Given the description of an element on the screen output the (x, y) to click on. 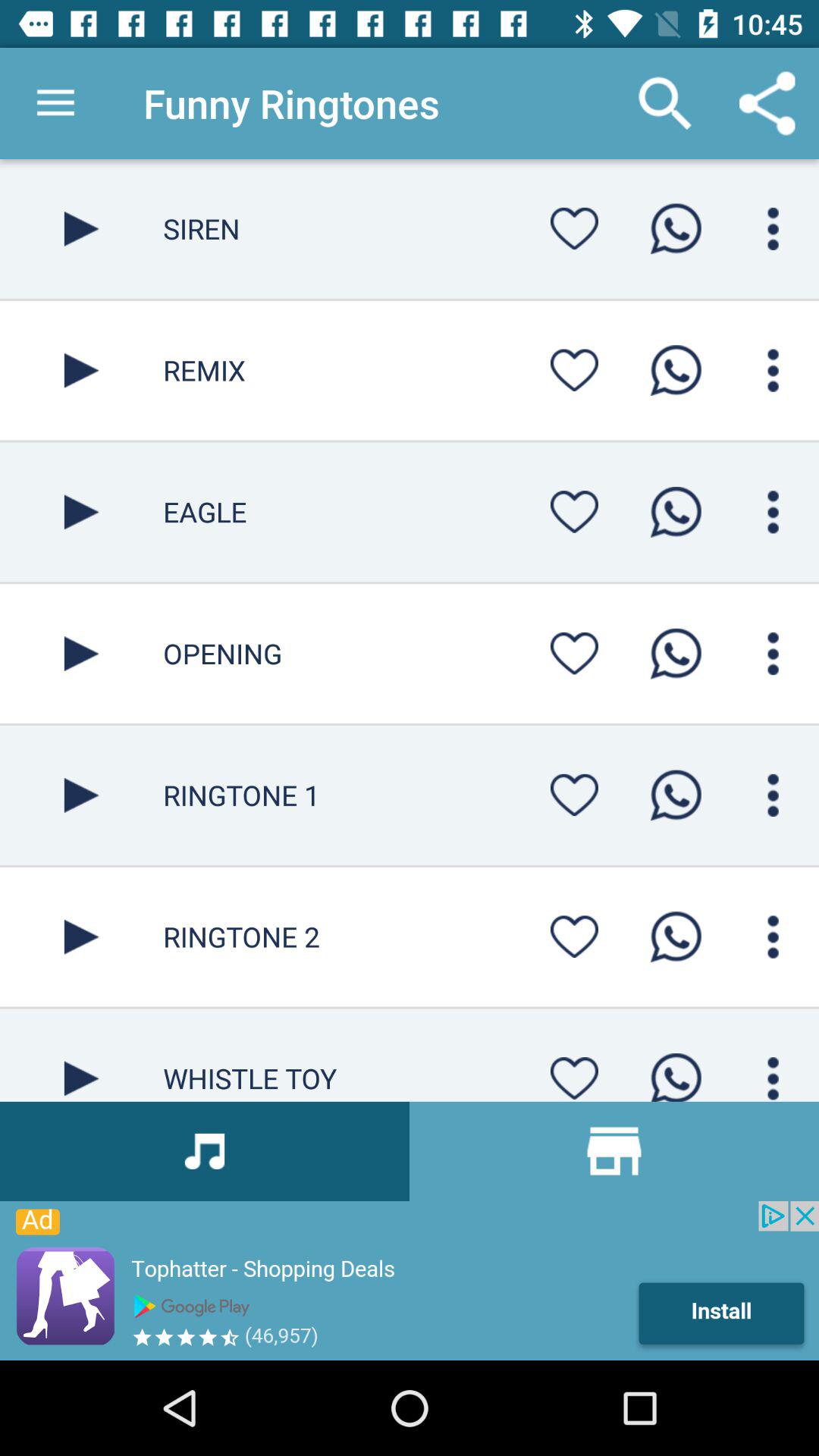
heart symbol (574, 936)
